Given the description of an element on the screen output the (x, y) to click on. 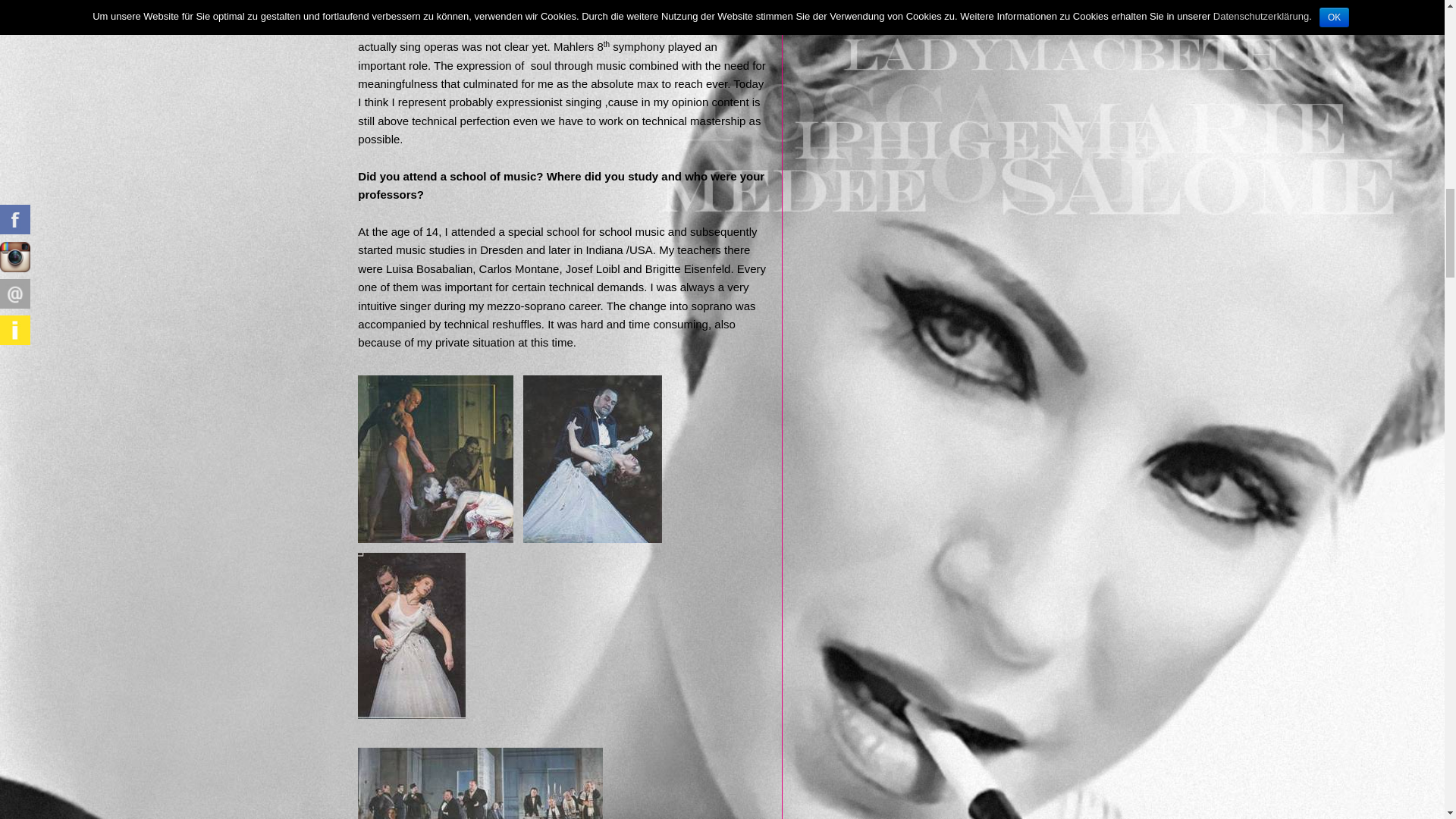
Salome (435, 458)
Salome (480, 783)
